Given the description of an element on the screen output the (x, y) to click on. 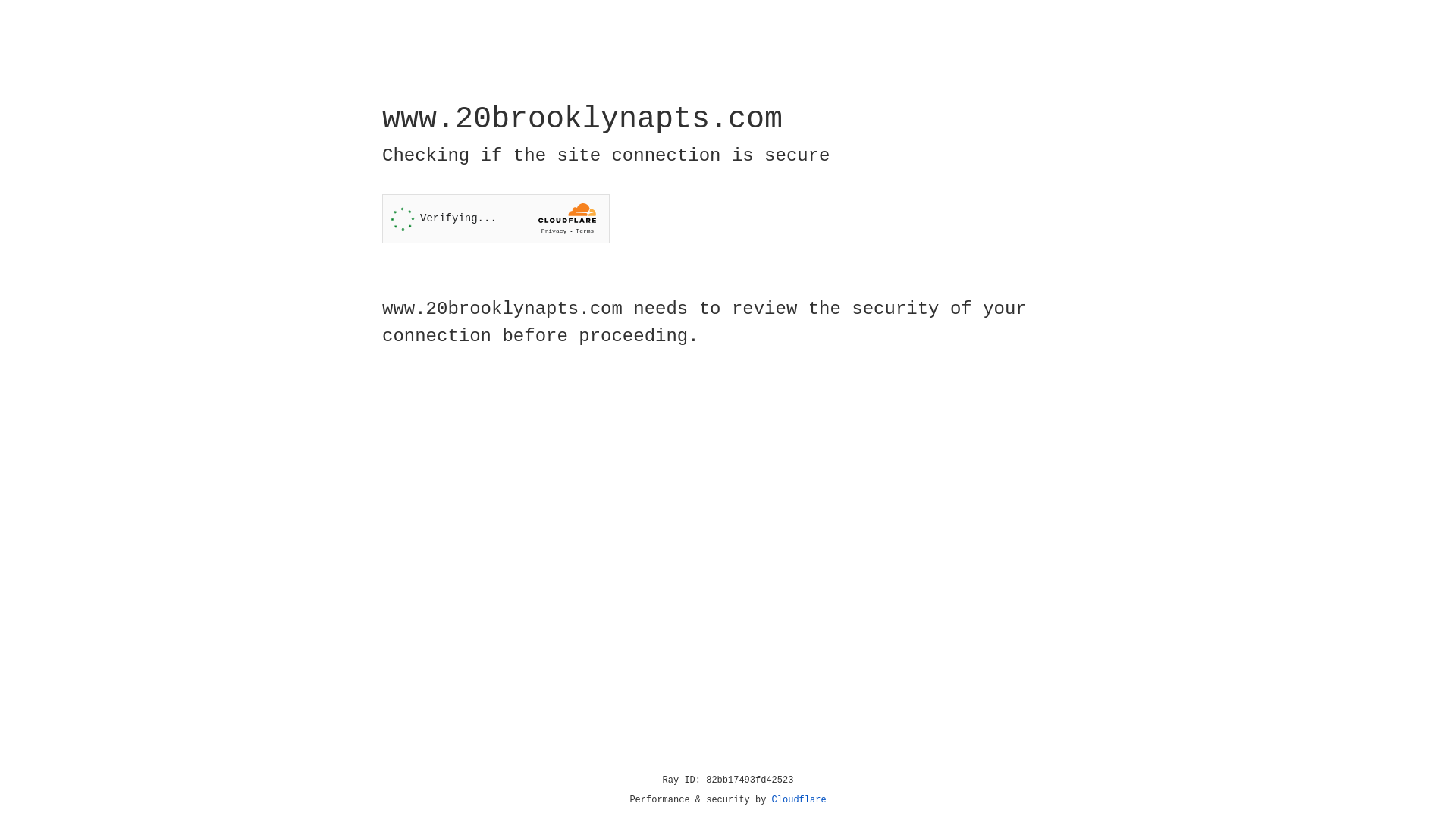
Widget containing a Cloudflare security challenge Element type: hover (495, 218)
Cloudflare Element type: text (798, 799)
